Given the description of an element on the screen output the (x, y) to click on. 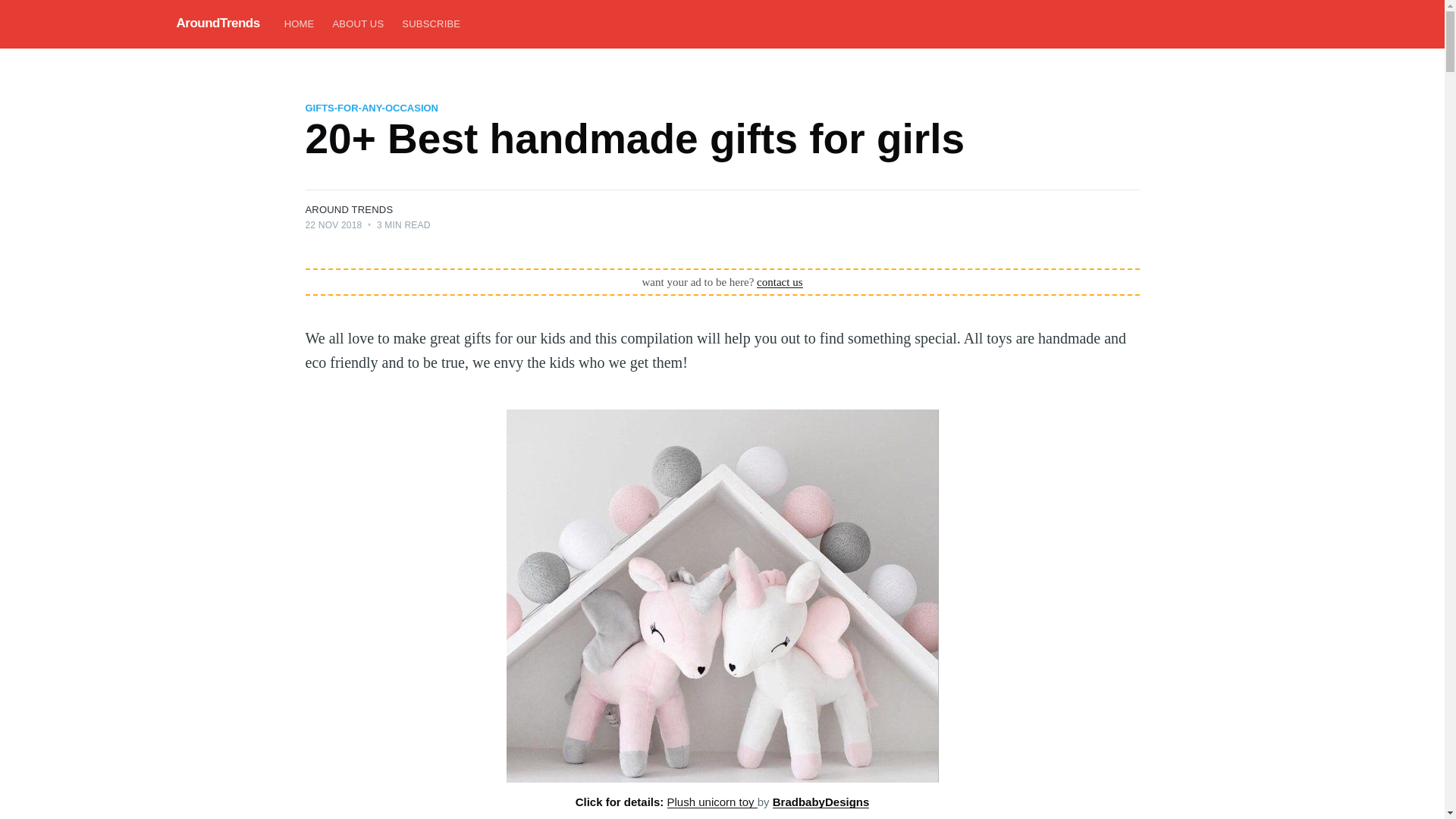
AROUND TRENDS (348, 209)
SUBSCRIBE (430, 24)
GIFTS-FOR-ANY-OCCASION (371, 108)
Plush unicorn toy (711, 801)
ABOUT US (358, 24)
HOME (299, 24)
contact us (779, 282)
AroundTrends (217, 23)
BradbabyDesigns (821, 801)
